Given the description of an element on the screen output the (x, y) to click on. 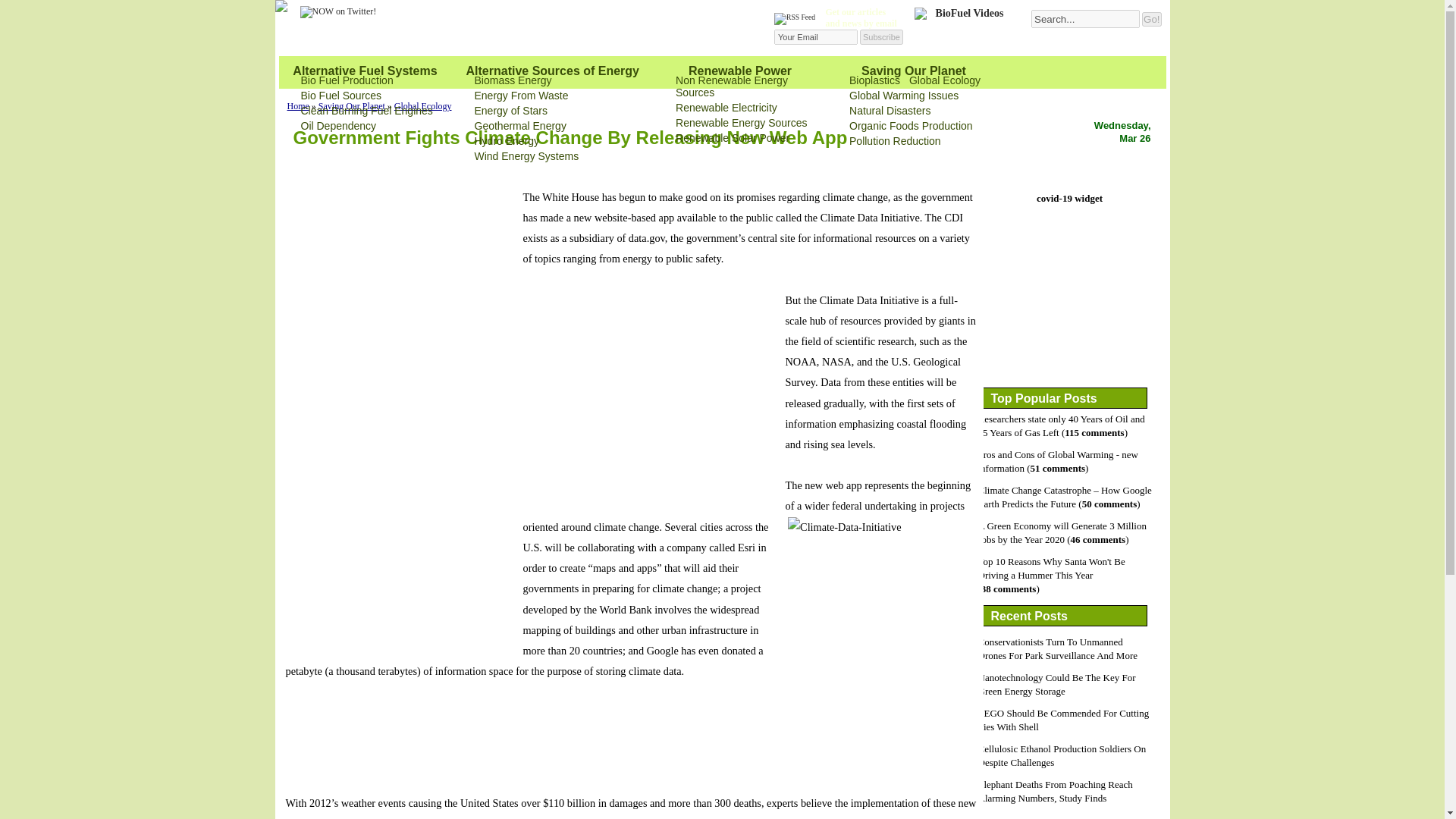
Hydro Energy (507, 141)
Oil Dependency (337, 125)
Wind Energy Systems (526, 155)
Bioplastics (873, 80)
Global Ecology (943, 80)
Clean Burning Fuel Engines (365, 110)
Saving Our Planet (913, 70)
Renewable Energy Sources (741, 122)
Saving Our Planet (351, 105)
Government Fights Climate Change By Releasing New Web App (569, 137)
Renewable Electricity (726, 107)
Search... (1085, 18)
Bio Fuel Sources (340, 95)
Energy From Waste (521, 95)
BioFuel Videos (962, 28)
